Given the description of an element on the screen output the (x, y) to click on. 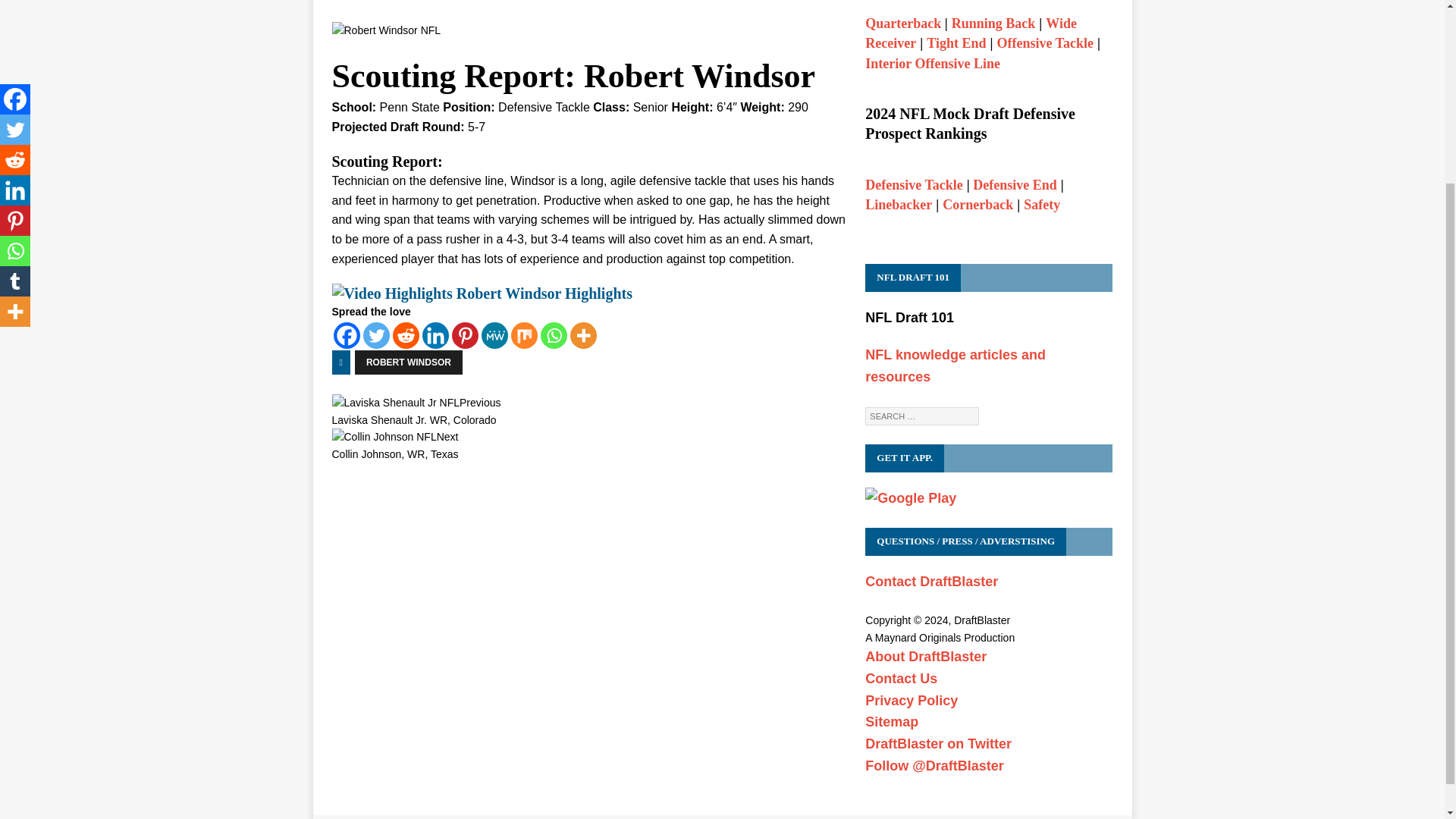
Reddit (406, 335)
Facebook (346, 335)
Whatsapp (553, 335)
Linkedin (435, 335)
ROBERT WINDSOR (409, 362)
Mix (524, 335)
More (583, 335)
Twitter (375, 335)
Robert Windsor Highlights (481, 293)
MeWe (493, 335)
